Given the description of an element on the screen output the (x, y) to click on. 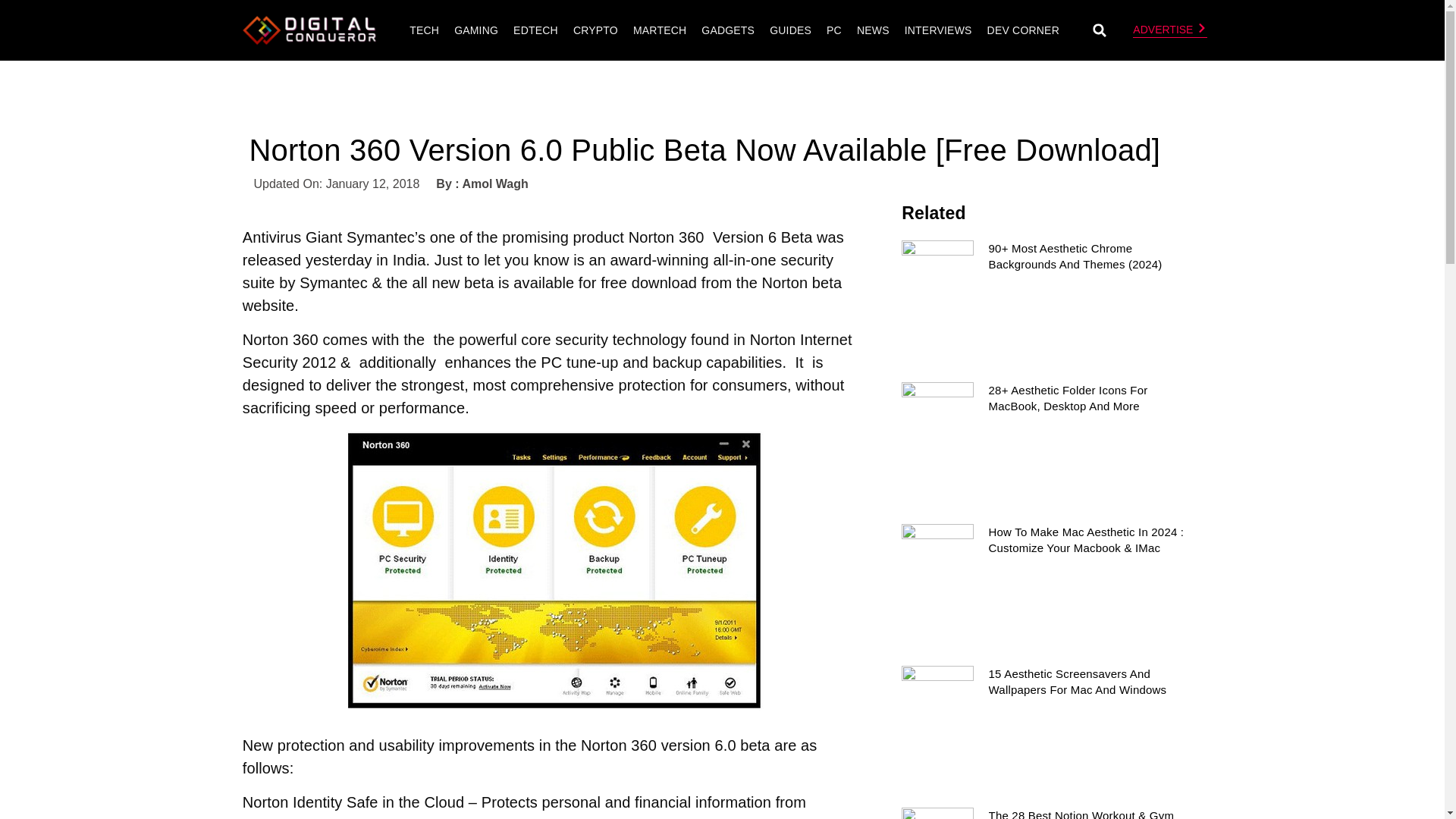
MARTECH (659, 30)
DEV CORNER (1022, 30)
EDTECH (535, 30)
norton-360-beta (554, 570)
NEWS (873, 30)
GAMING (475, 30)
GUIDES (790, 30)
INTERVIEWS (938, 30)
CRYPTO (595, 30)
TECH (424, 30)
